Given the description of an element on the screen output the (x, y) to click on. 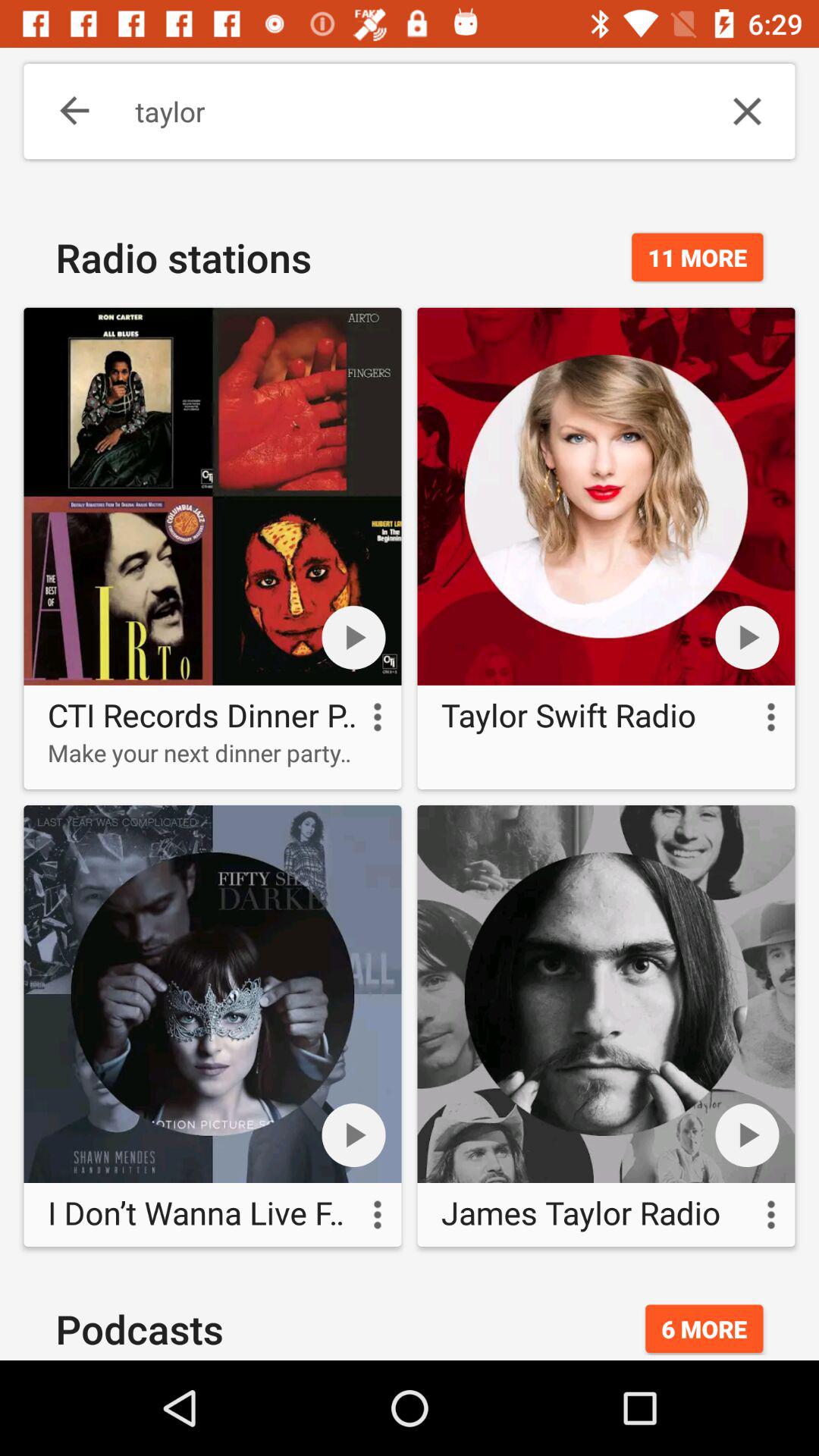
turn off the icon next to the taylor icon (63, 111)
